Given the description of an element on the screen output the (x, y) to click on. 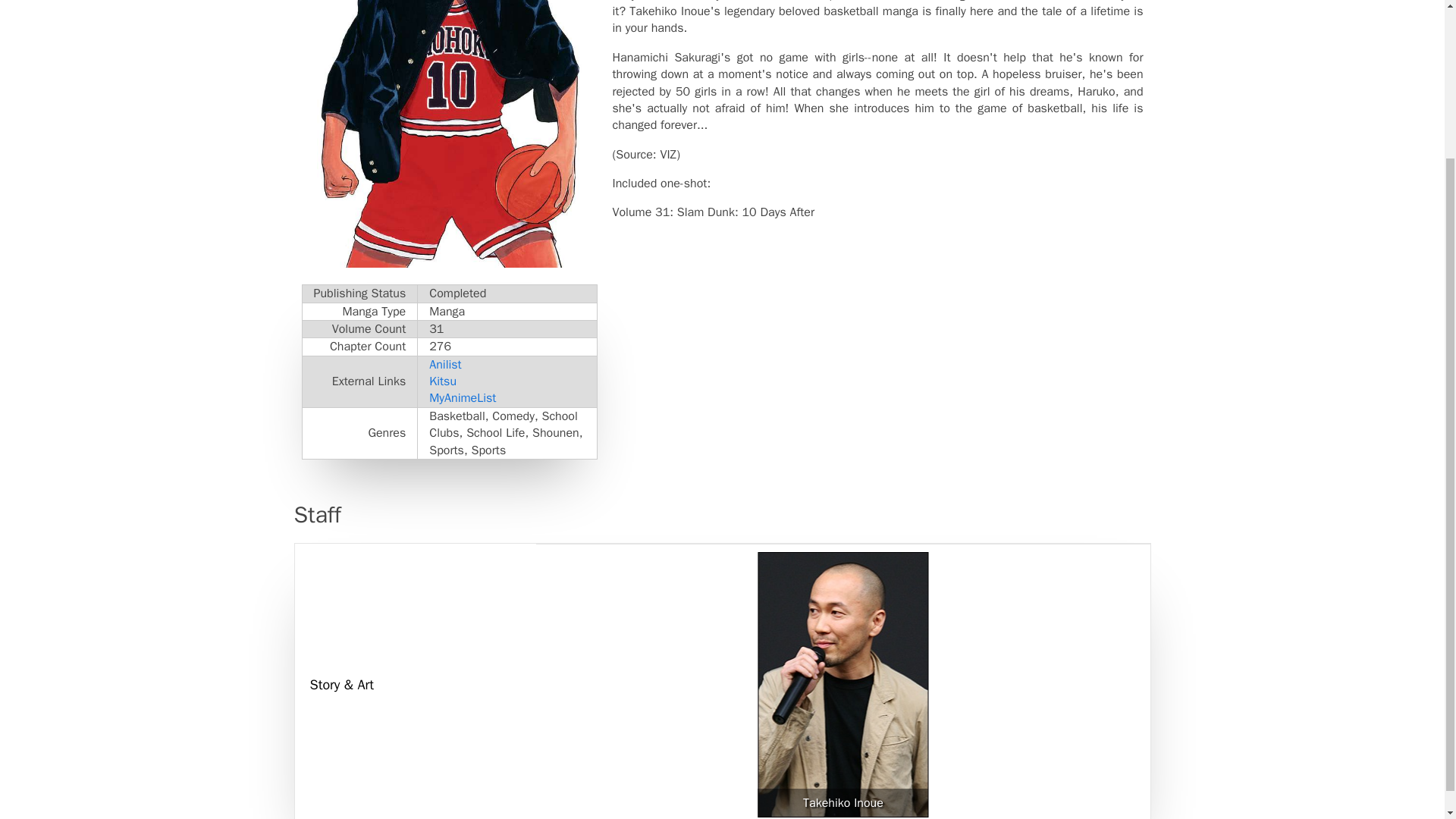
Takehiko Inoue (843, 802)
Anilist (445, 364)
Kitsu (443, 381)
MyAnimeList (462, 397)
